Given the description of an element on the screen output the (x, y) to click on. 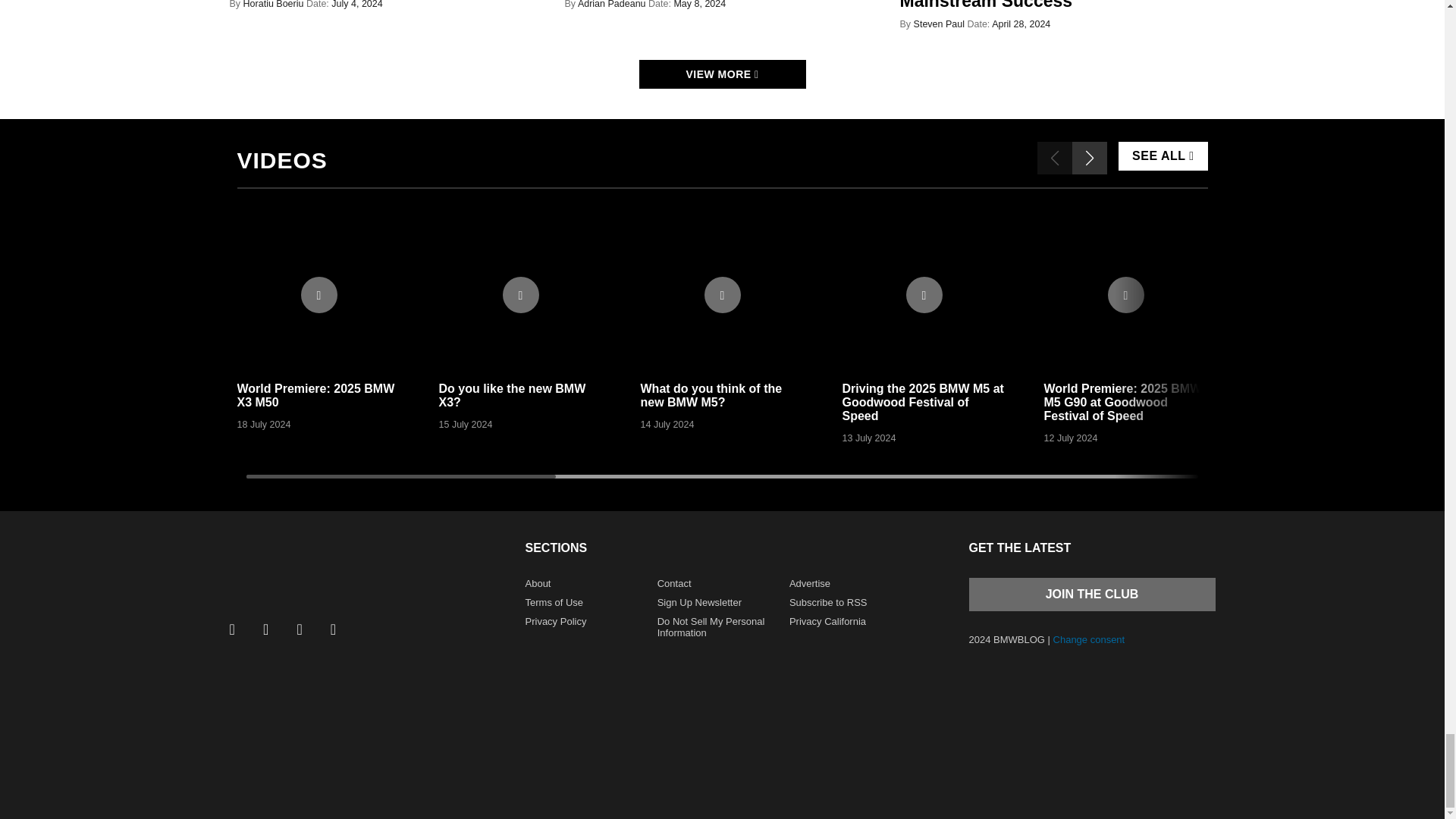
Join the club (1092, 594)
